Given the description of an element on the screen output the (x, y) to click on. 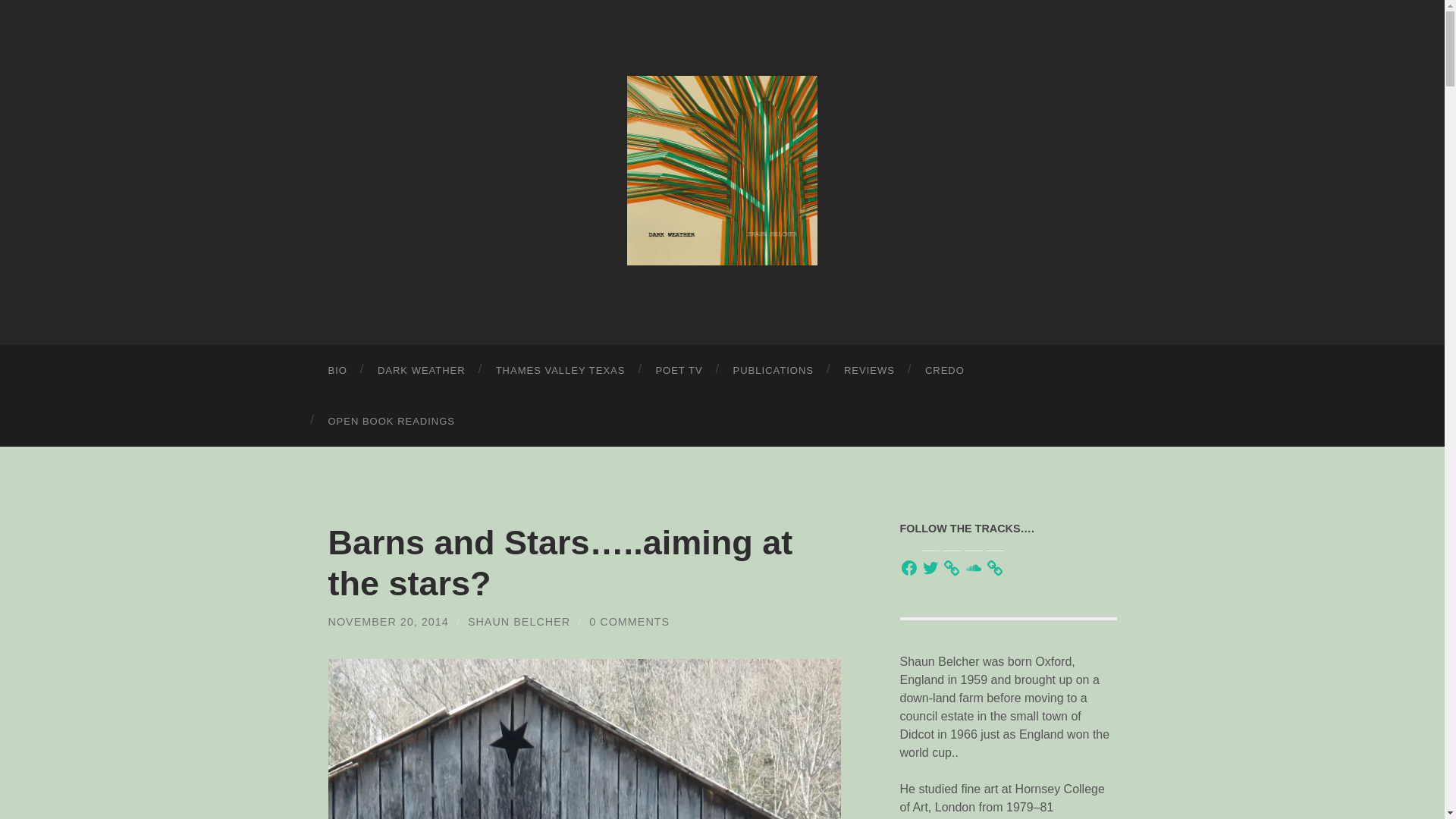
Posts by shaun belcher (518, 621)
NOVEMBER 20, 2014 (387, 621)
POET TV (678, 369)
OPEN BOOK READINGS (391, 420)
SHAUN BELCHER (518, 621)
THAMES VALLEY TEXAS (560, 369)
DARK WEATHER (421, 369)
SHAUN BELCHER (721, 170)
0 COMMENTS (629, 621)
PUBLICATIONS (772, 369)
REVIEWS (869, 369)
BIO (337, 369)
CREDO (944, 369)
